Given the description of an element on the screen output the (x, y) to click on. 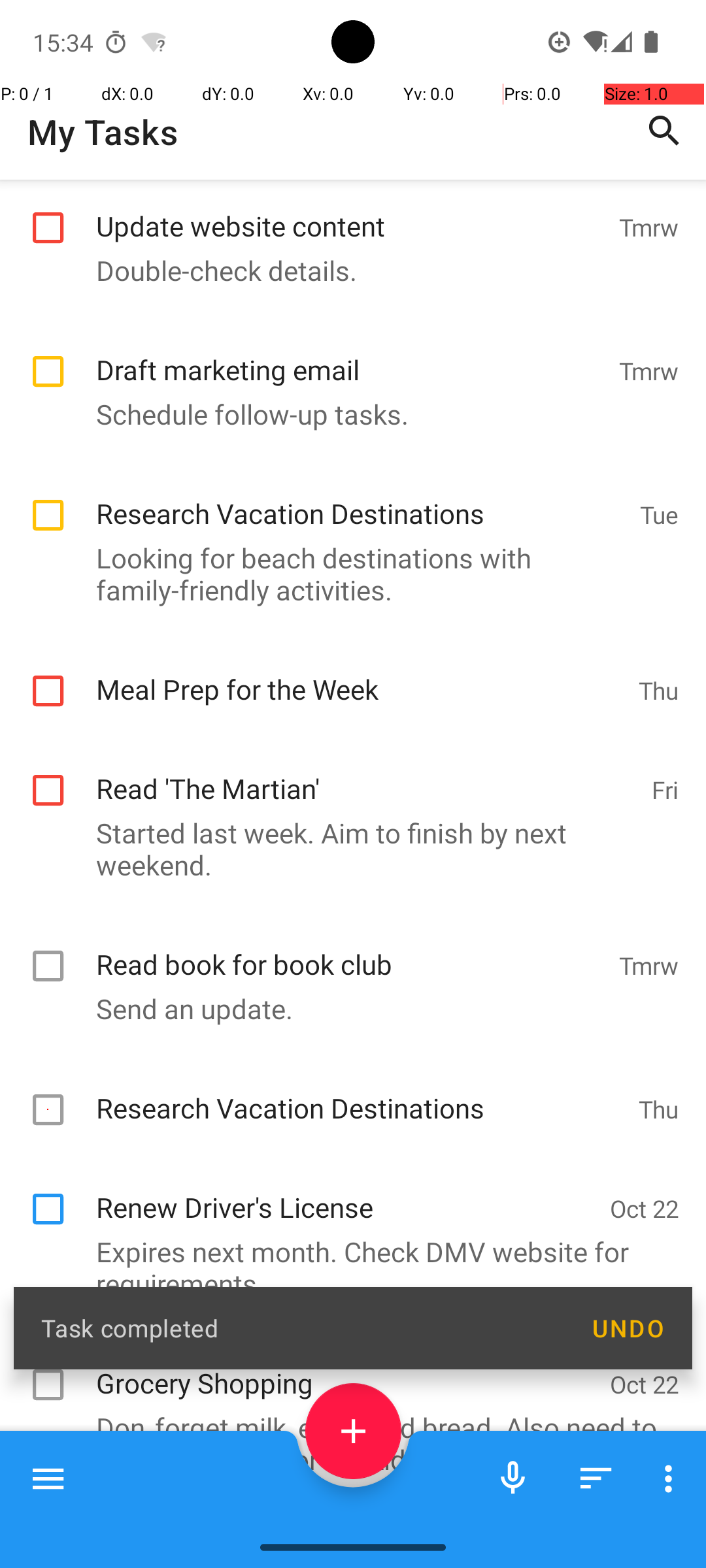
Update website content Element type: android.widget.TextView (350, 211)
Schedule follow-up tasks. Element type: android.widget.TextView (346, 413)
Read book for book club Element type: android.widget.TextView (350, 949)
Send an update. Element type: android.widget.TextView (346, 1008)
